Given the description of an element on the screen output the (x, y) to click on. 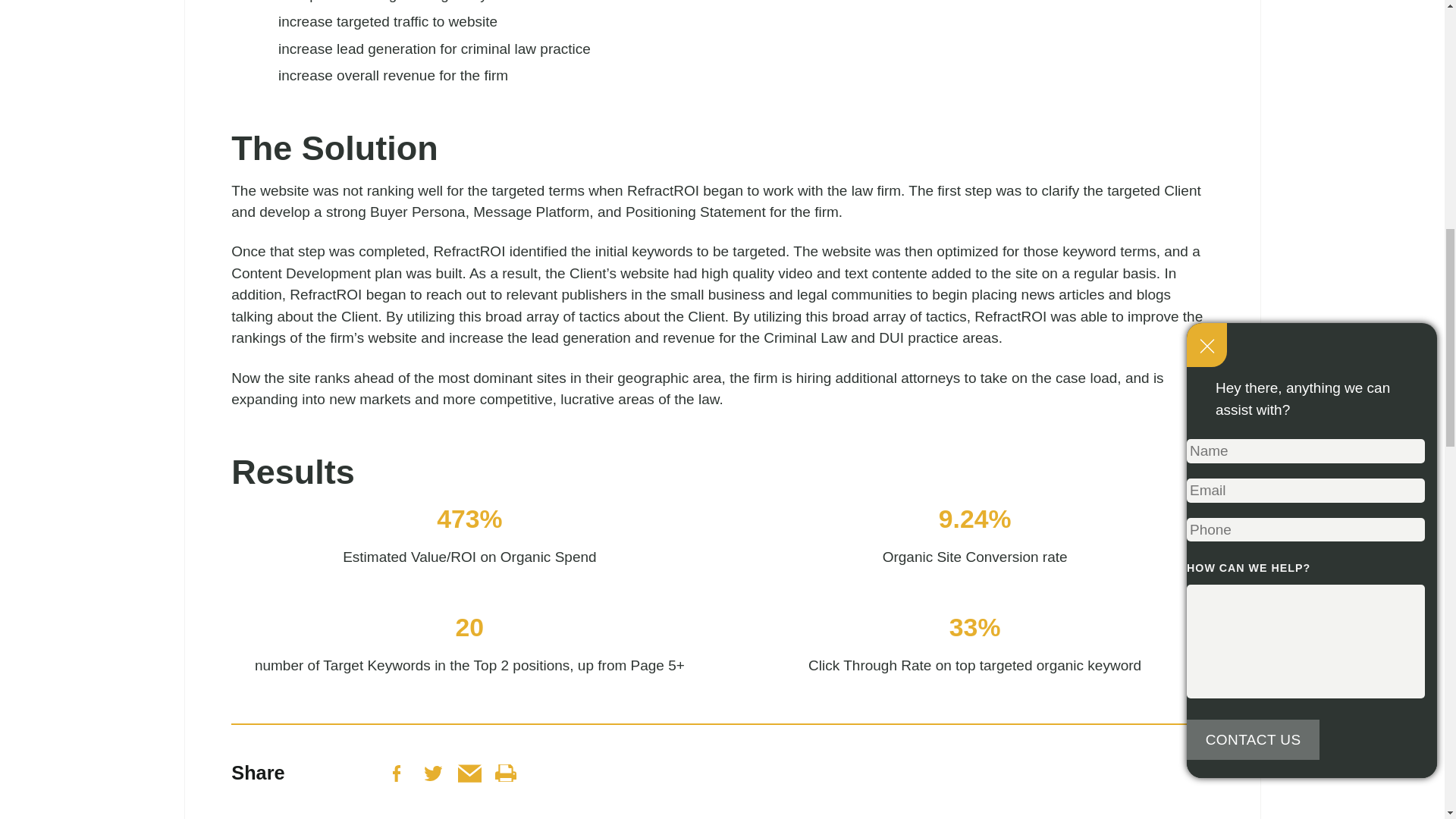
Visit our page (505, 773)
Share this post via Email (469, 772)
Share to Twitter (433, 773)
